Given the description of an element on the screen output the (x, y) to click on. 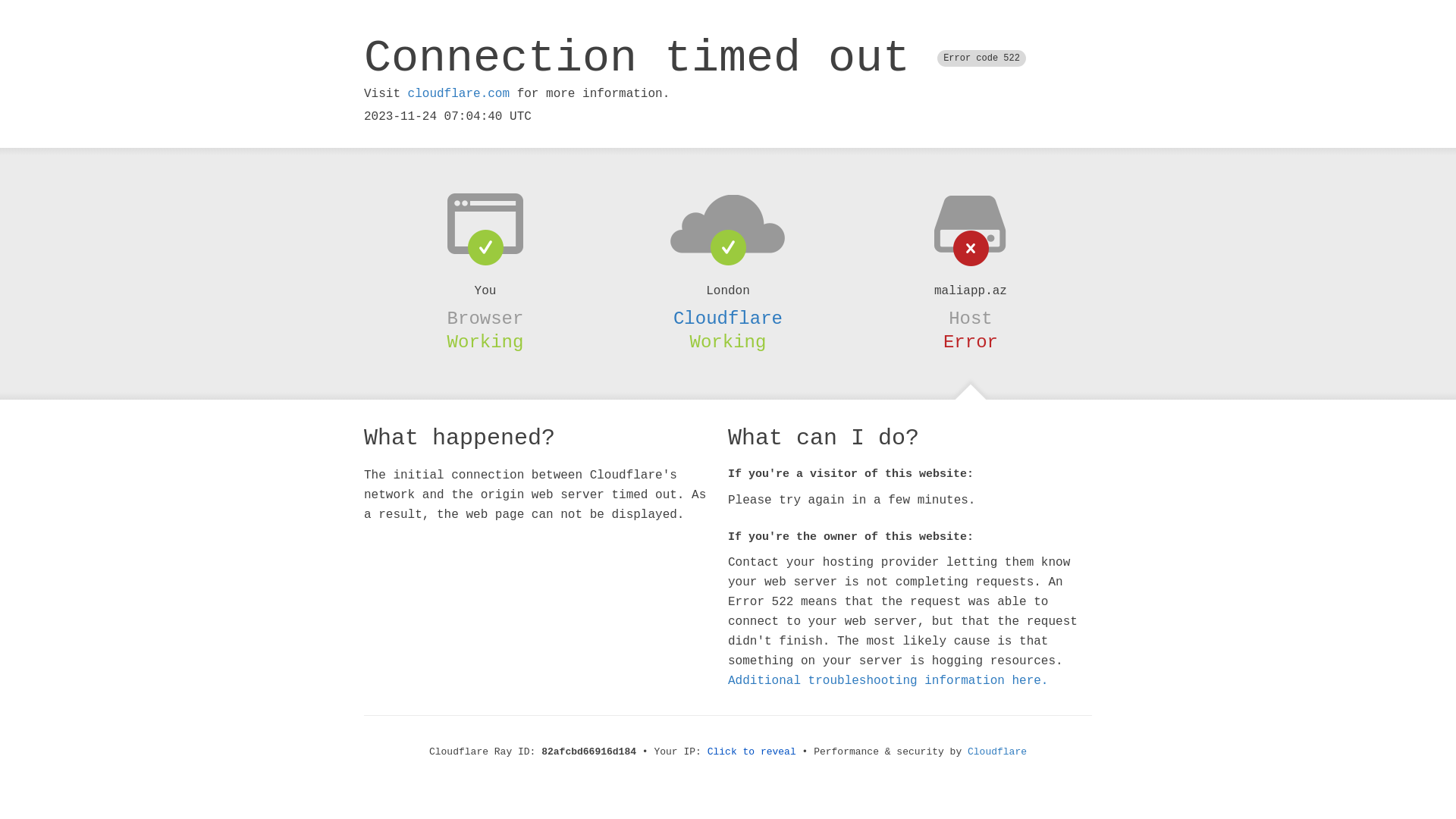
cloudflare.com Element type: text (458, 93)
Cloudflare Element type: text (996, 751)
Click to reveal Element type: text (751, 751)
Cloudflare Element type: text (727, 318)
Additional troubleshooting information here. Element type: text (888, 680)
